Given the description of an element on the screen output the (x, y) to click on. 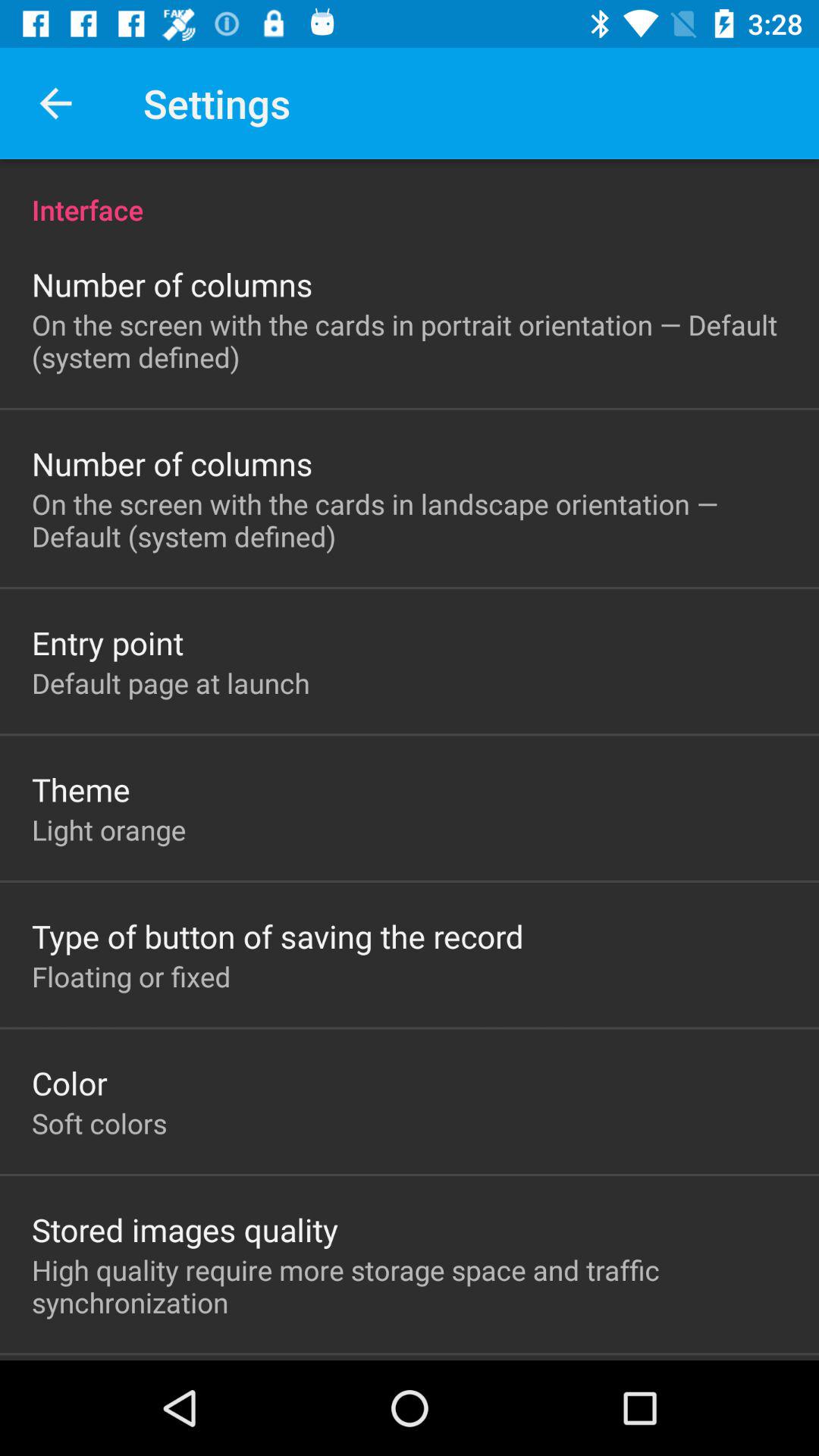
scroll to soft colors item (99, 1123)
